Given the description of an element on the screen output the (x, y) to click on. 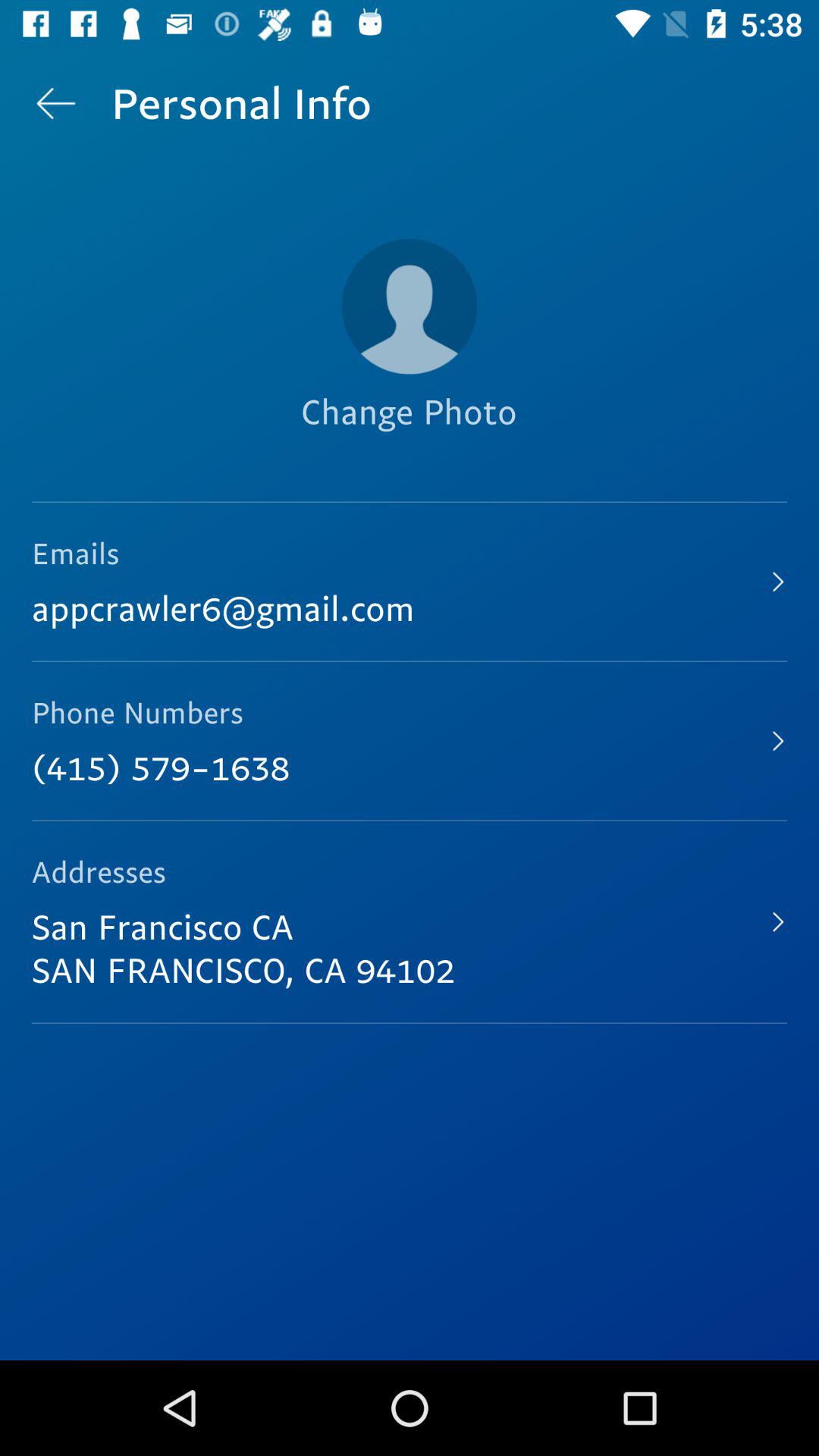
turn off the icon above change photo (409, 306)
